Given the description of an element on the screen output the (x, y) to click on. 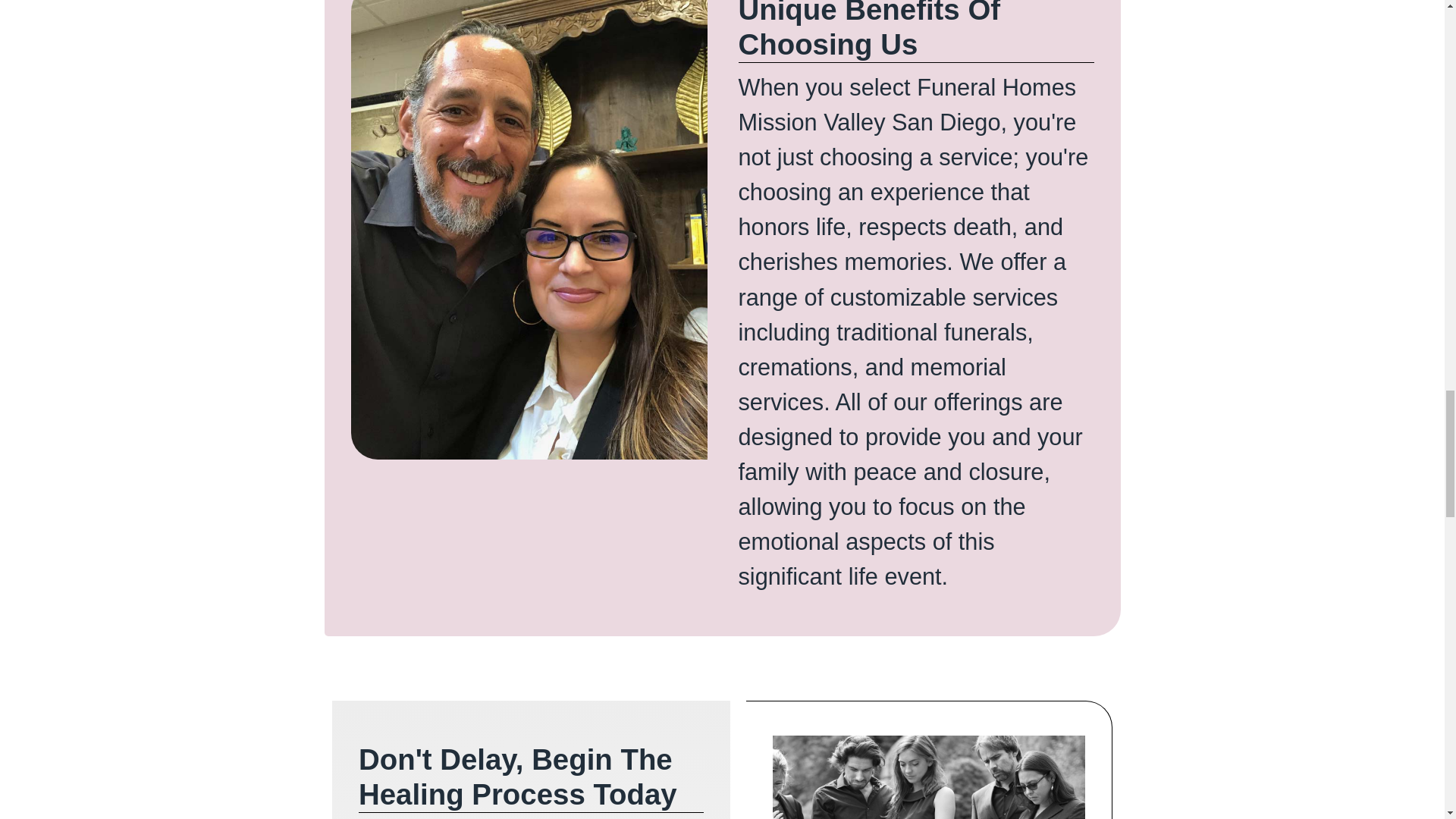
Funeral Homes Mission Valley San Diego (928, 777)
